Given the description of an element on the screen output the (x, y) to click on. 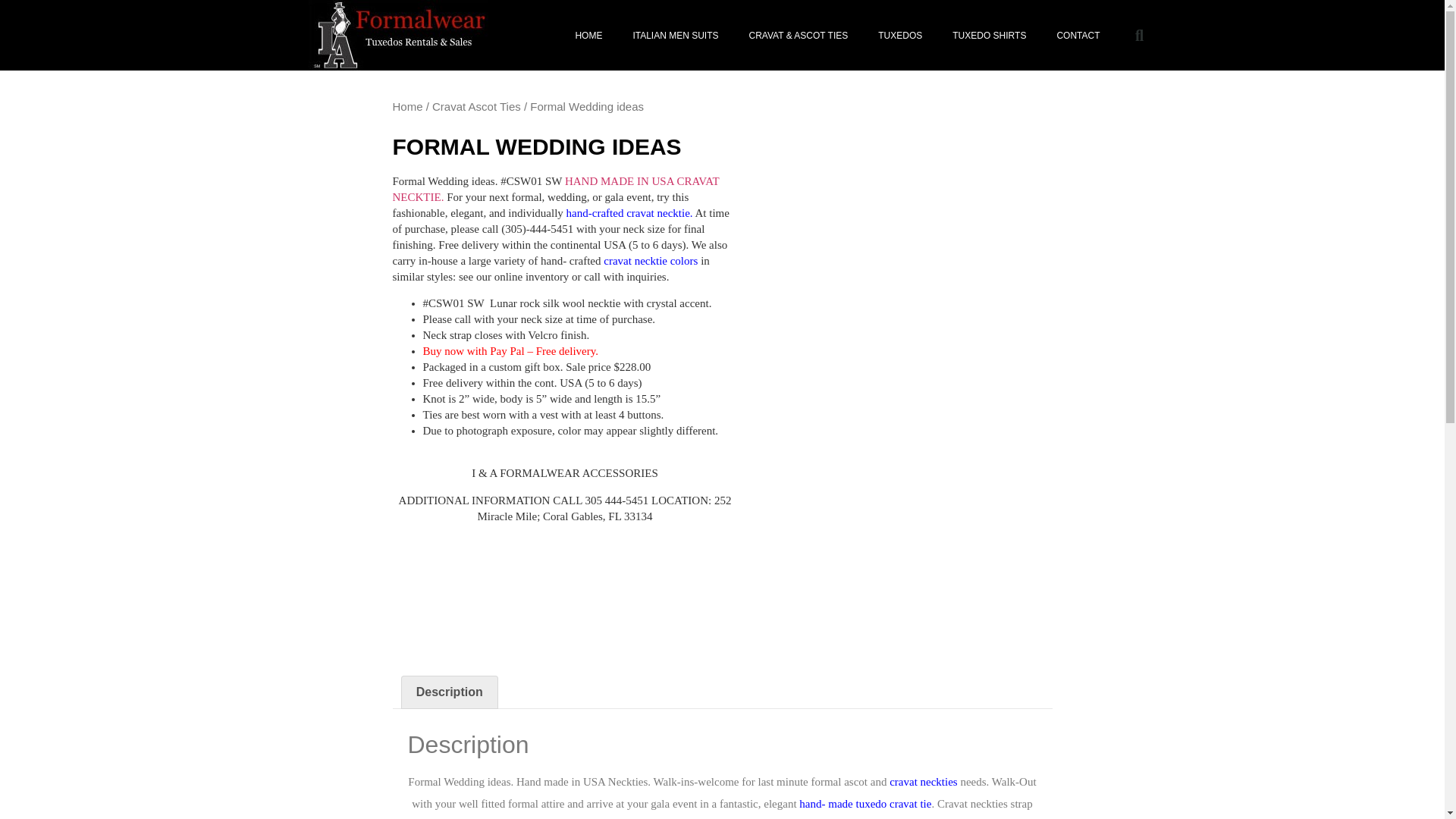
TUXEDO SHIRTS (989, 35)
HOME (588, 35)
Home (408, 106)
Description (449, 692)
hand-crafted cravat necktie. (629, 212)
ITALIAN MEN SUITS (675, 35)
cravat neckties (923, 781)
CONTACT (1078, 35)
TUXEDOS (900, 35)
HAND MADE IN USA CRAVAT NECKTIE. (556, 188)
hand- made tuxedo cravat tie (865, 803)
cravat necktie colors (650, 260)
Cravat Ascot Ties (476, 106)
